Given the description of an element on the screen output the (x, y) to click on. 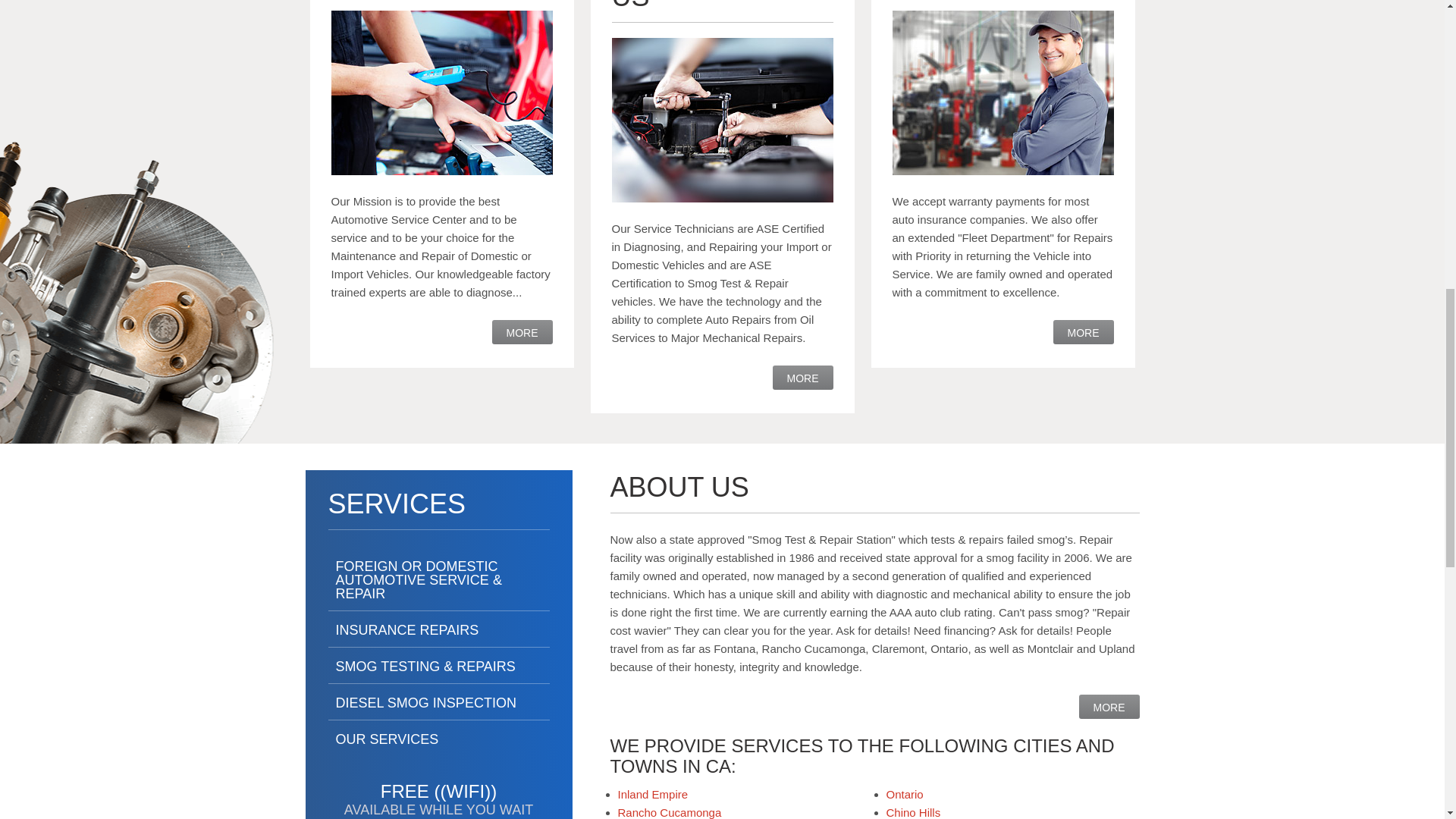
Inland Empire (652, 793)
INSURANCE REPAIRS (437, 633)
DIESEL SMOG INSPECTION (437, 705)
Chino Hills (912, 812)
Ontario (904, 793)
OUR SERVICES (437, 741)
Rancho Cucamonga (668, 812)
MORE (1108, 706)
